Given the description of an element on the screen output the (x, y) to click on. 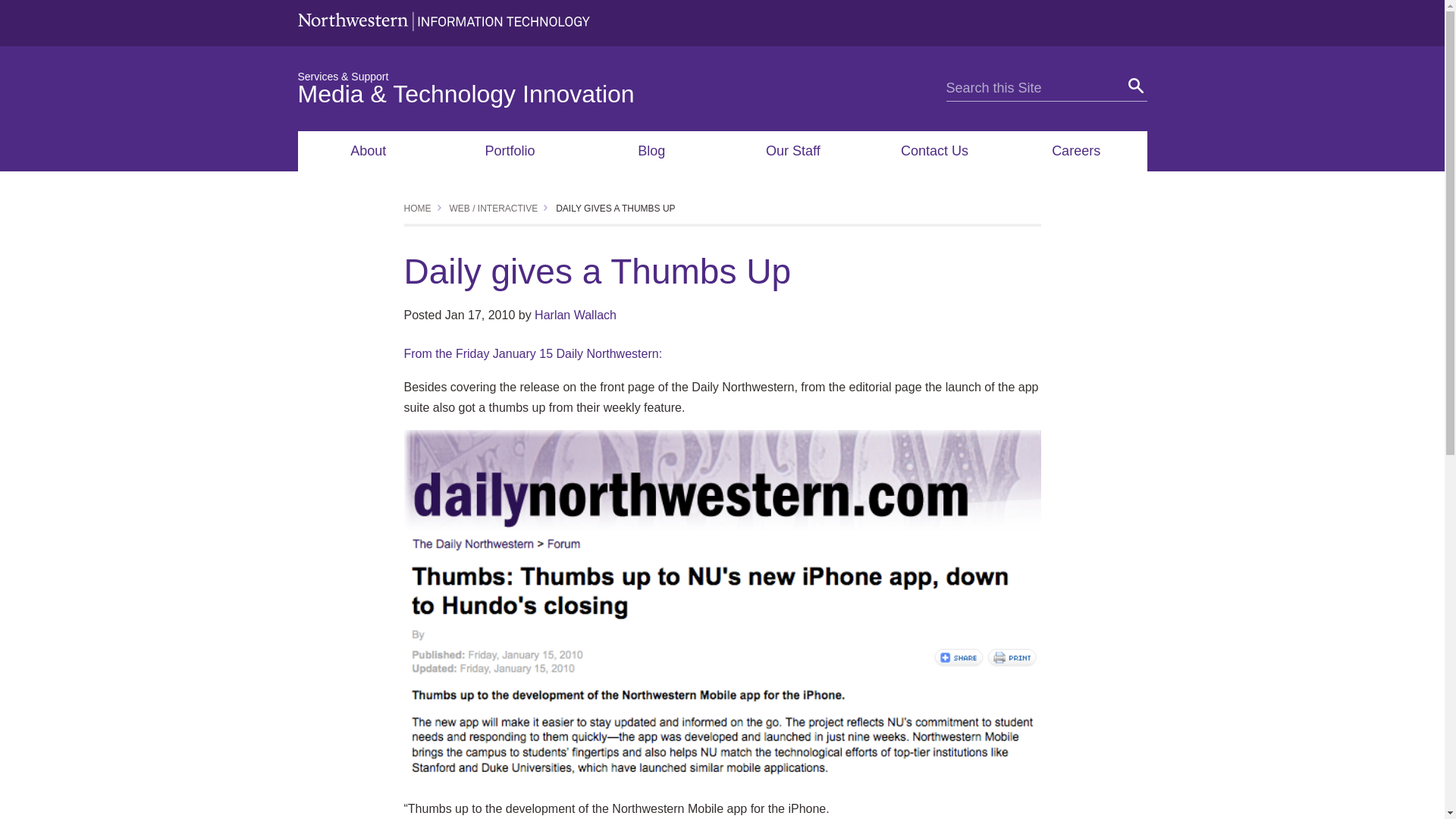
Daily gives a Thumbs Up (615, 208)
About (368, 151)
Blog (651, 151)
From the Friday January 15 Daily Northwestern: (532, 353)
Contact Us (934, 151)
Careers (1076, 151)
Portfolio (509, 151)
HOME (416, 208)
Our Staff (792, 151)
Harlan Wallach (574, 314)
